Given the description of an element on the screen output the (x, y) to click on. 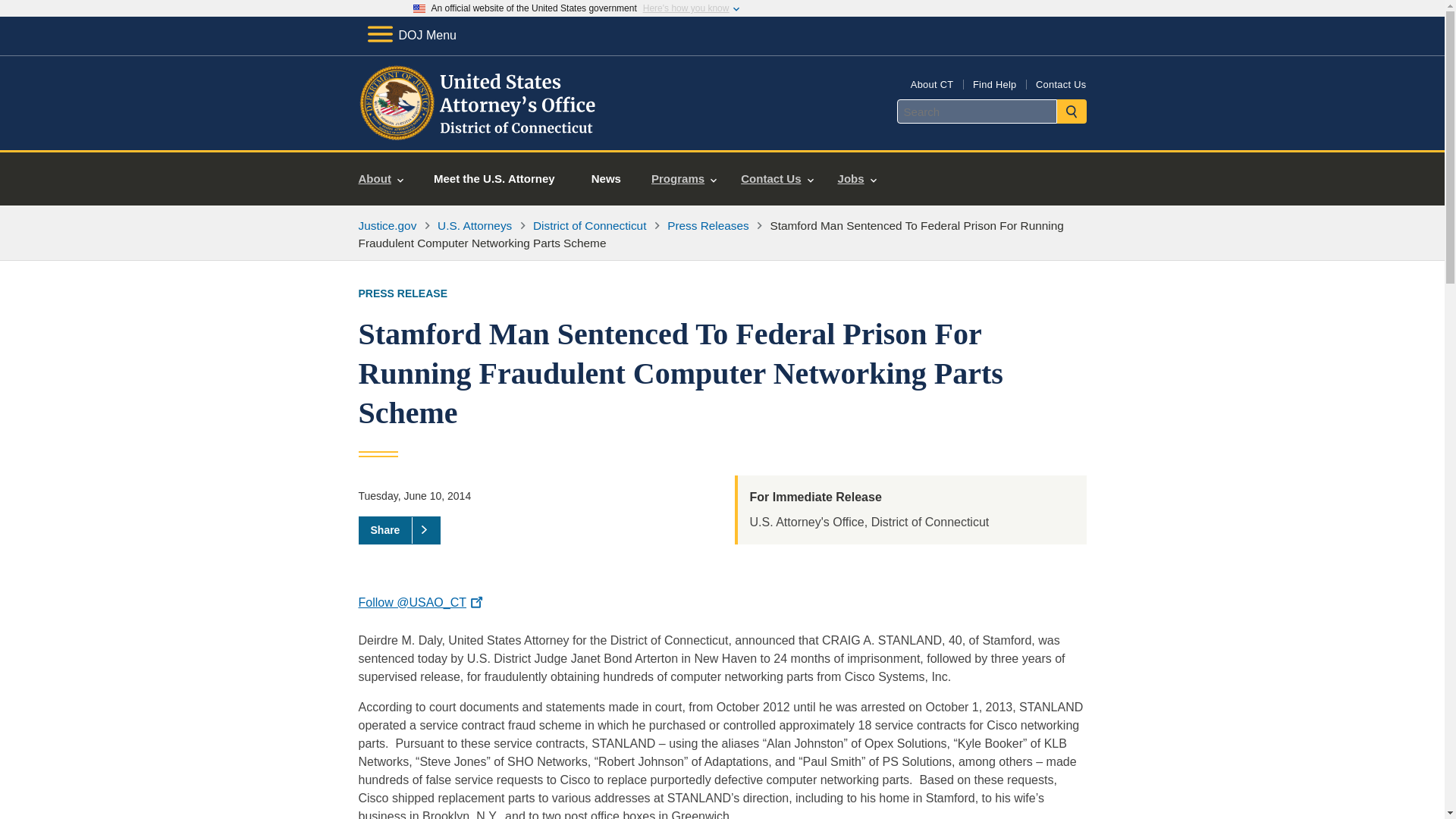
DOJ Menu (411, 35)
Programs (684, 179)
Meet the U.S. Attorney (493, 179)
District of Connecticut (589, 225)
Find Help (994, 84)
Home (478, 132)
Here's how you know (686, 8)
About CT (932, 84)
Justice.gov (387, 225)
Press Releases (707, 225)
